Given the description of an element on the screen output the (x, y) to click on. 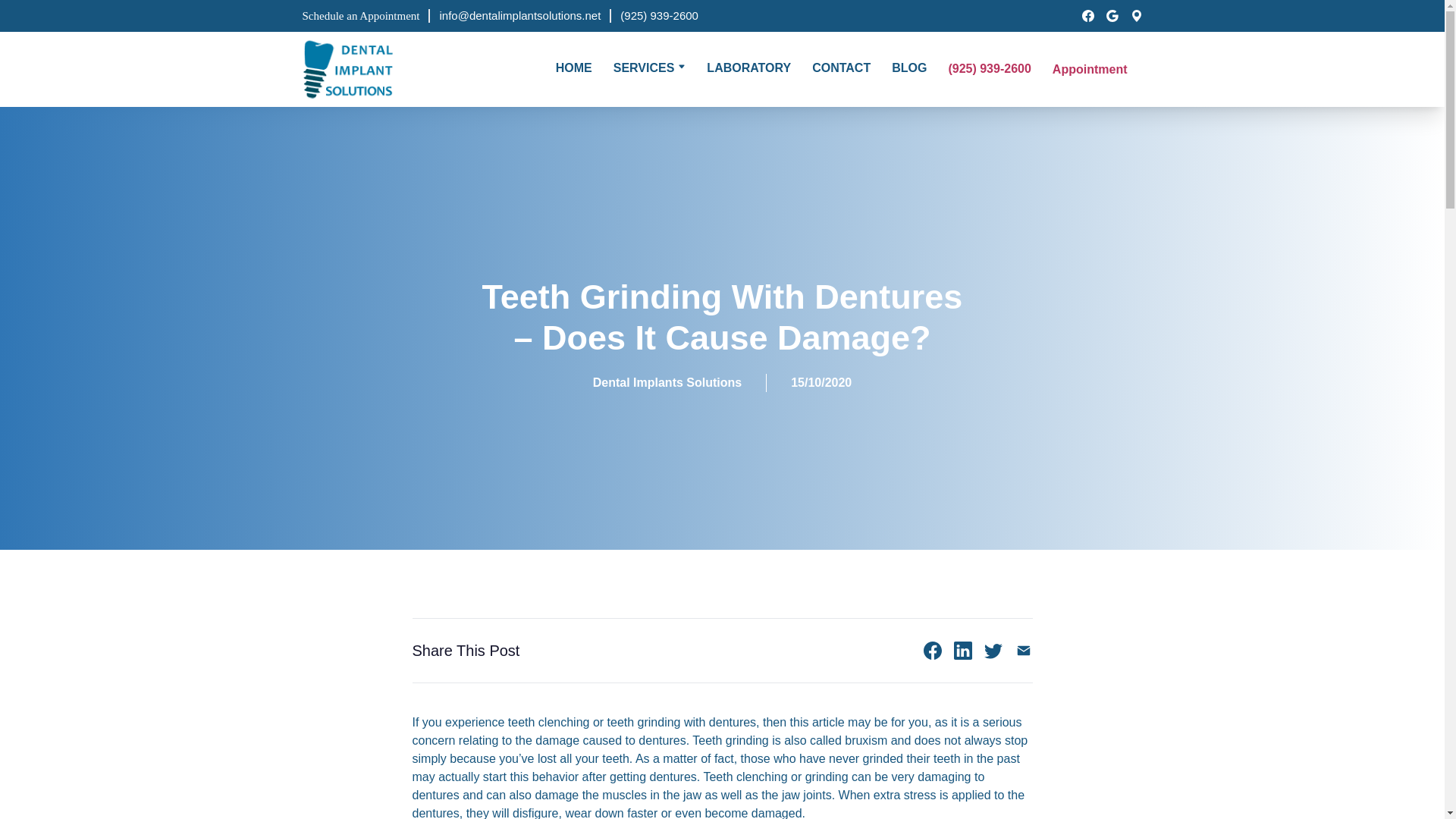
HOME (574, 67)
SERVICES (643, 67)
LABORATORY (748, 67)
